Given the description of an element on the screen output the (x, y) to click on. 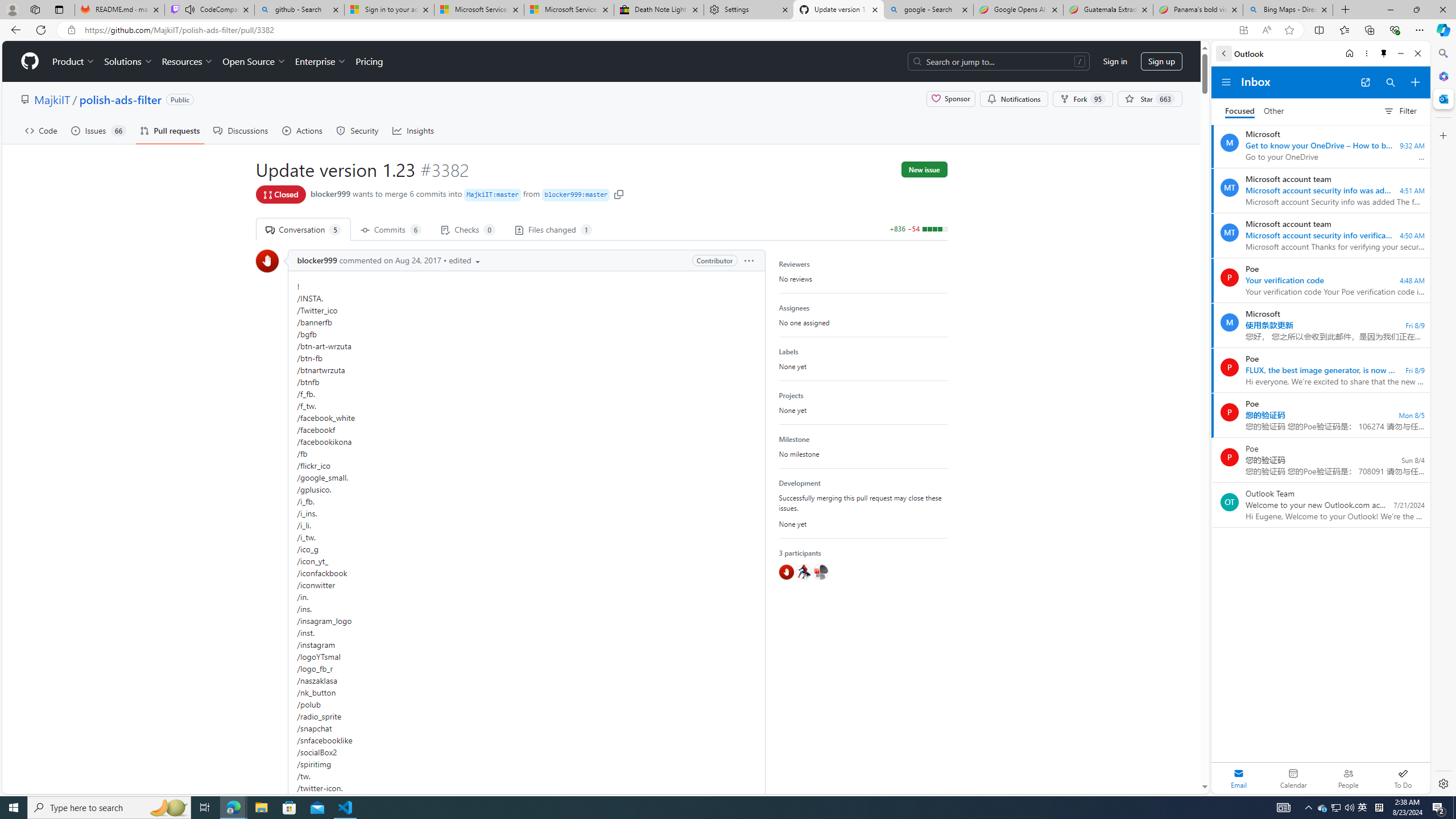
Discussions (240, 130)
Issues66 (98, 130)
Code (41, 130)
Compose new mail (1414, 82)
Solutions (128, 60)
You must be signed in to change notification settings (1013, 98)
on Aug 24, 2017 (411, 260)
Sign in to your account (389, 9)
Insights (413, 130)
